Given the description of an element on the screen output the (x, y) to click on. 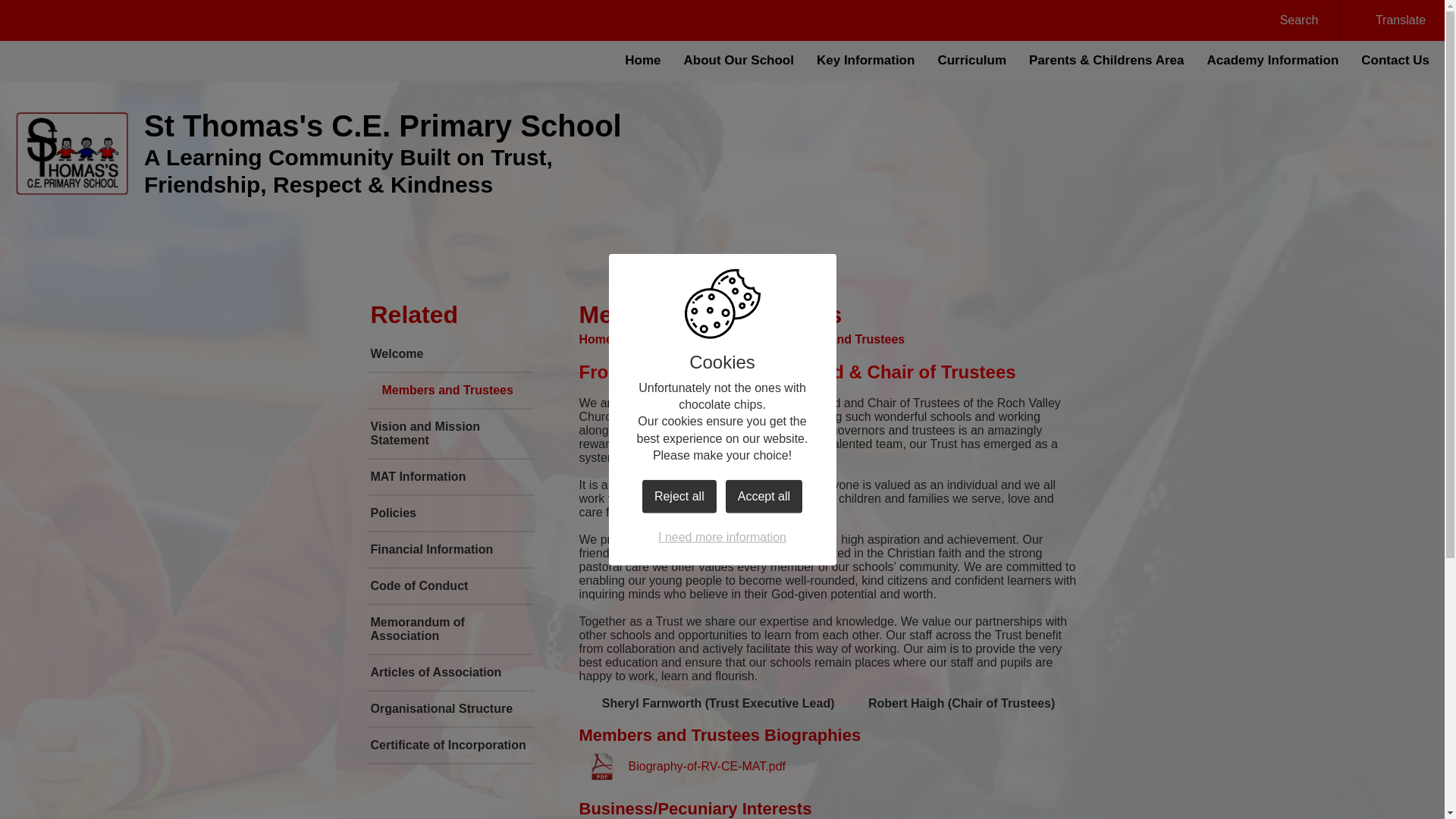
Key Information (865, 60)
About Our School (738, 60)
Home Page (71, 152)
Translate (1390, 20)
Search (1289, 20)
